Given the description of an element on the screen output the (x, y) to click on. 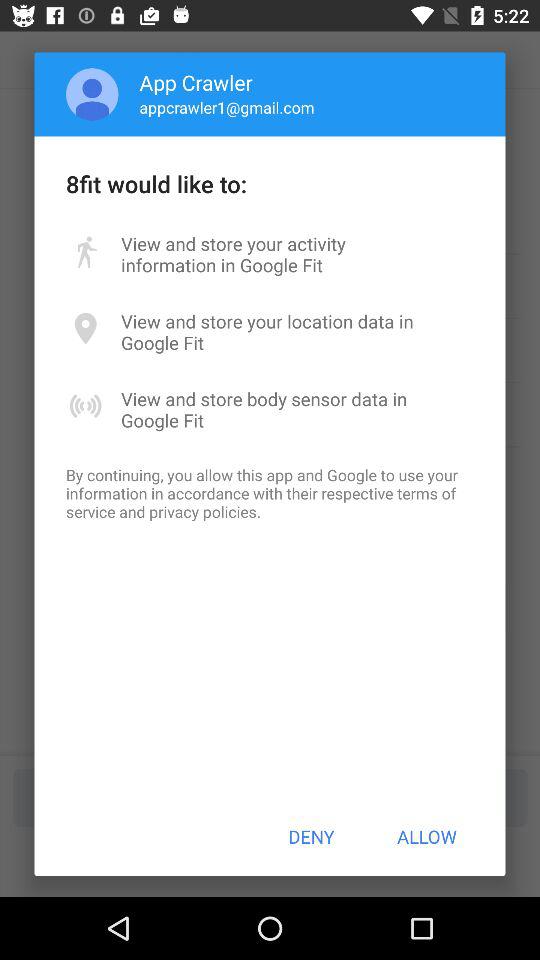
open the app crawler icon (195, 82)
